Given the description of an element on the screen output the (x, y) to click on. 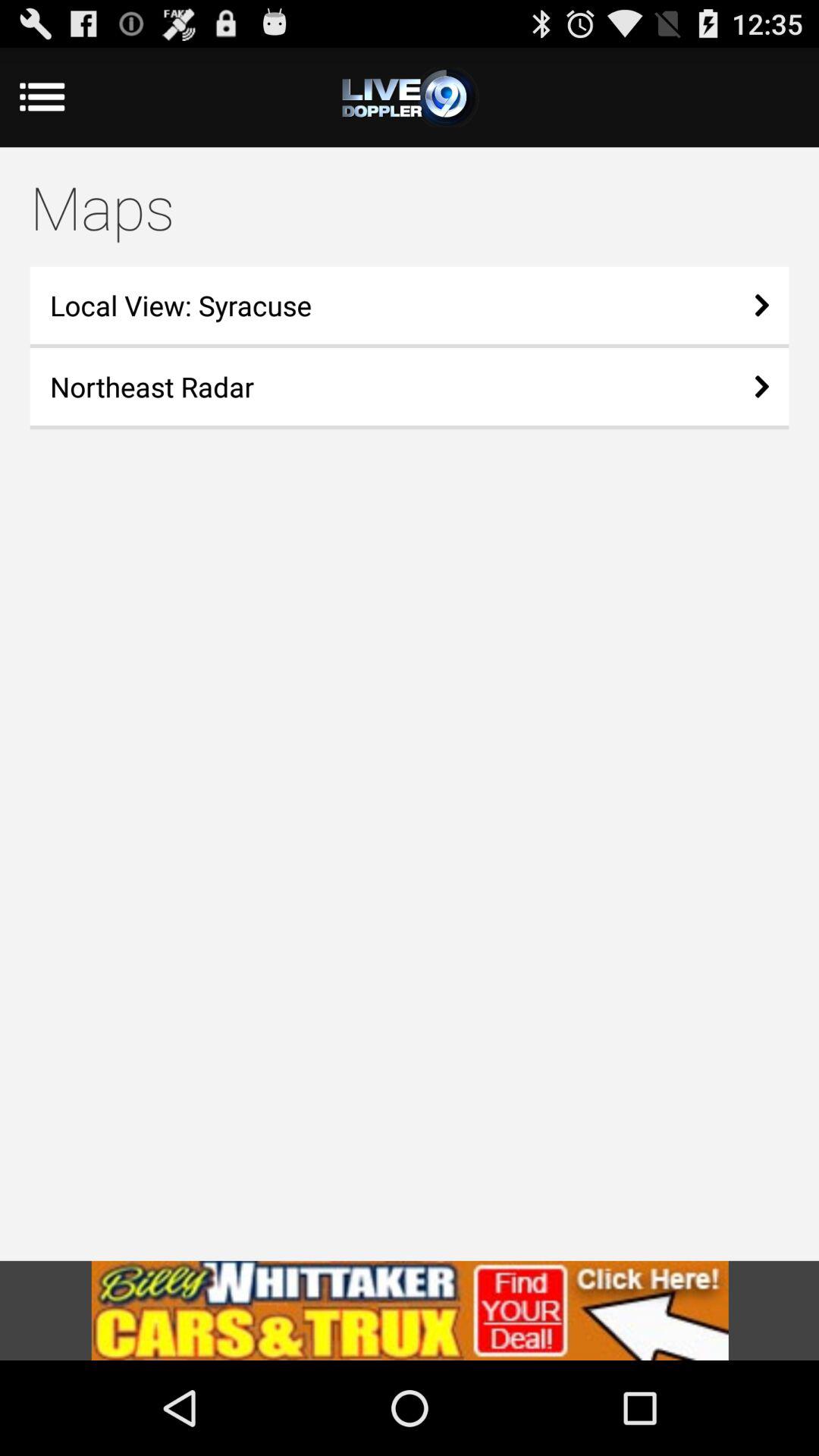
tap the item above the maps icon (409, 97)
